Given the description of an element on the screen output the (x, y) to click on. 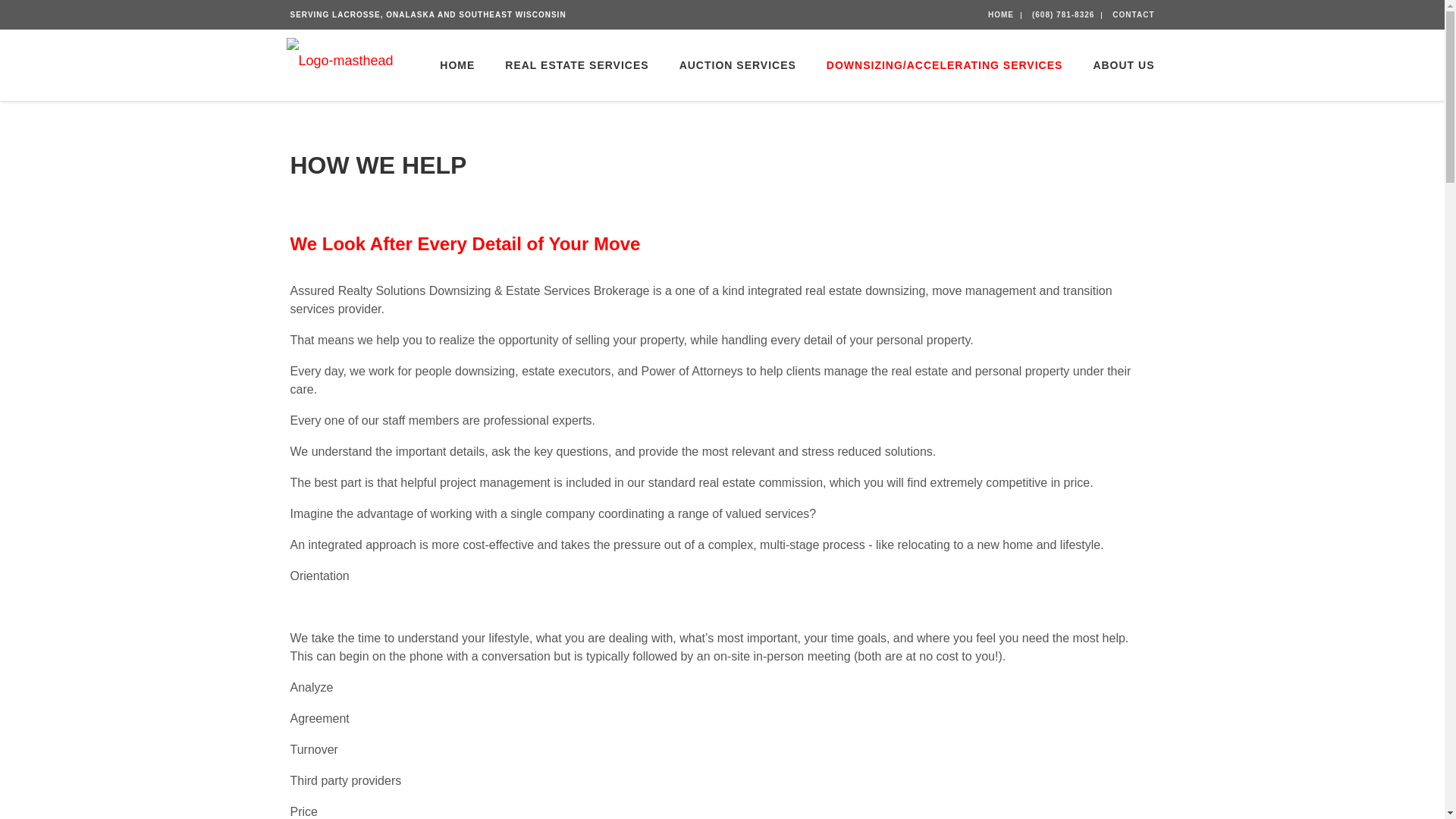
Contact (1133, 14)
Auction Services (736, 64)
ABOUT US (1115, 64)
AUCTION SERVICES (736, 64)
Real Estate Services (576, 64)
Call Us (1063, 14)
REAL ESTATE SERVICES (576, 64)
HOME (1000, 14)
Home (457, 64)
HOME (457, 64)
